Given the description of an element on the screen output the (x, y) to click on. 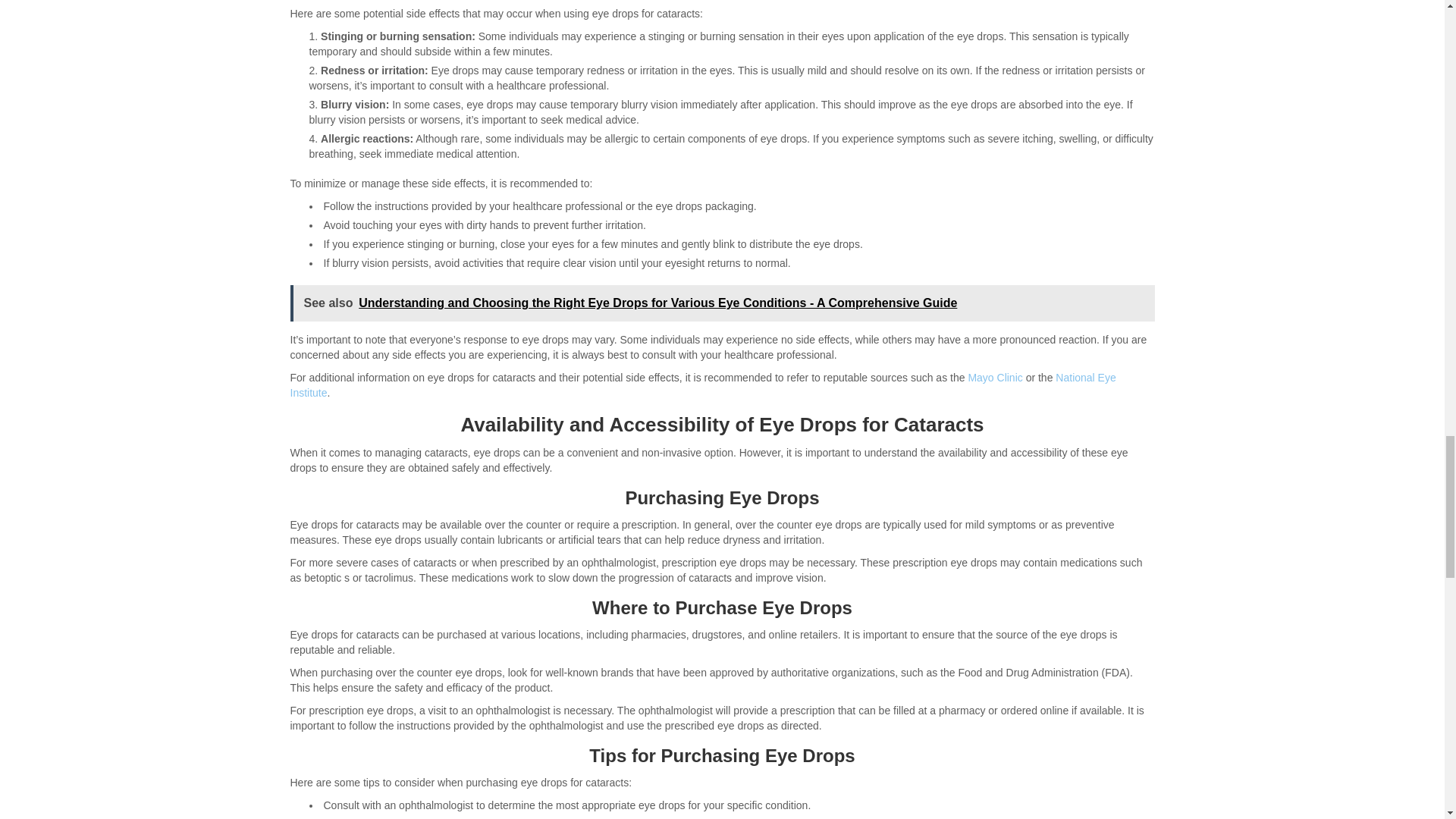
National Eye Institute (702, 384)
Mayo Clinic (995, 377)
